Given the description of an element on the screen output the (x, y) to click on. 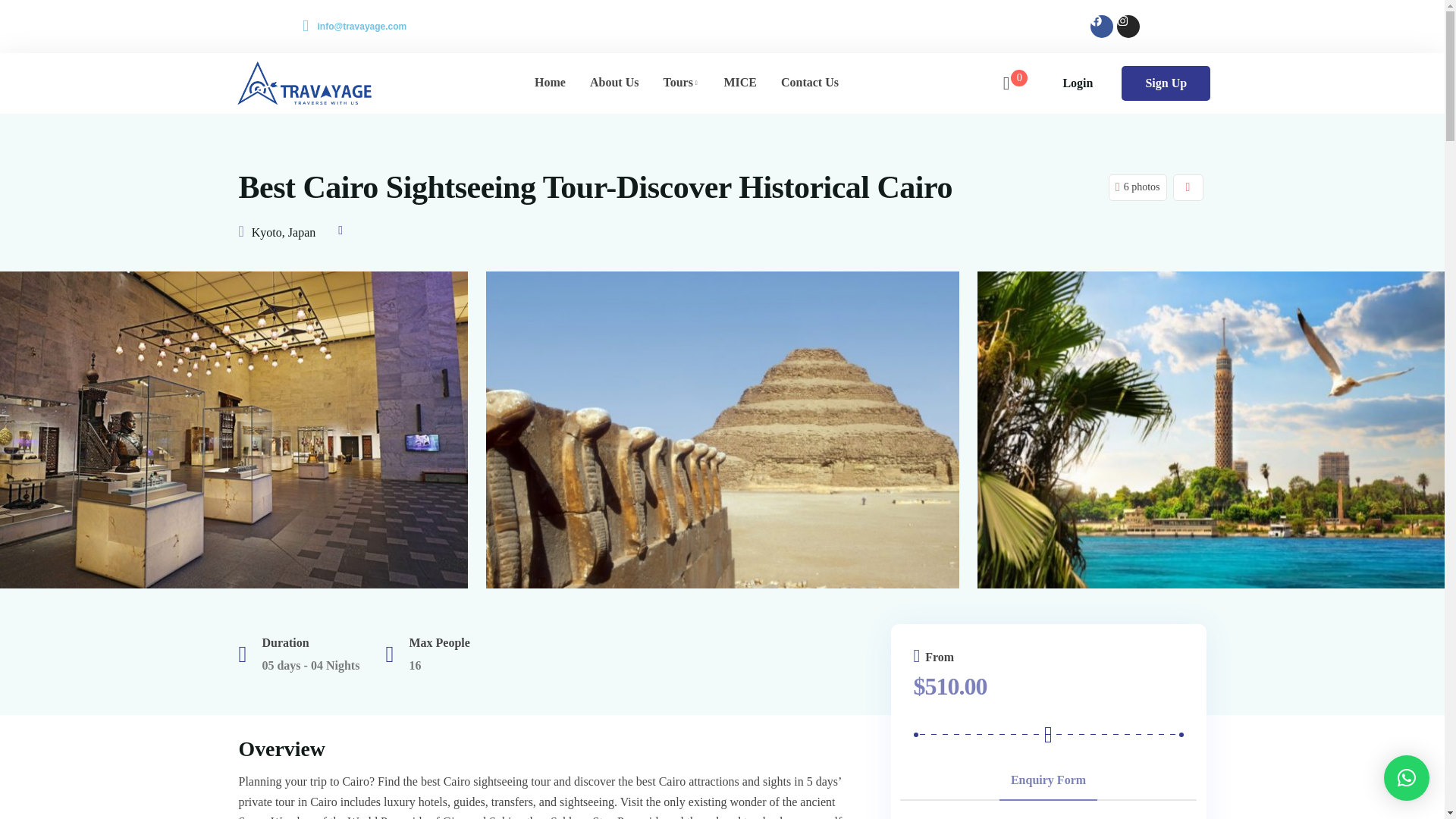
Home (550, 82)
About Us (614, 82)
Login (1077, 82)
Tours (680, 82)
Contact Us (809, 82)
Contact Us (809, 82)
Home (550, 82)
About Us (614, 82)
MICE (739, 82)
Tours (680, 82)
Sign Up (1165, 82)
Kyoto, Japan (283, 232)
MICE (739, 82)
